Given the description of an element on the screen output the (x, y) to click on. 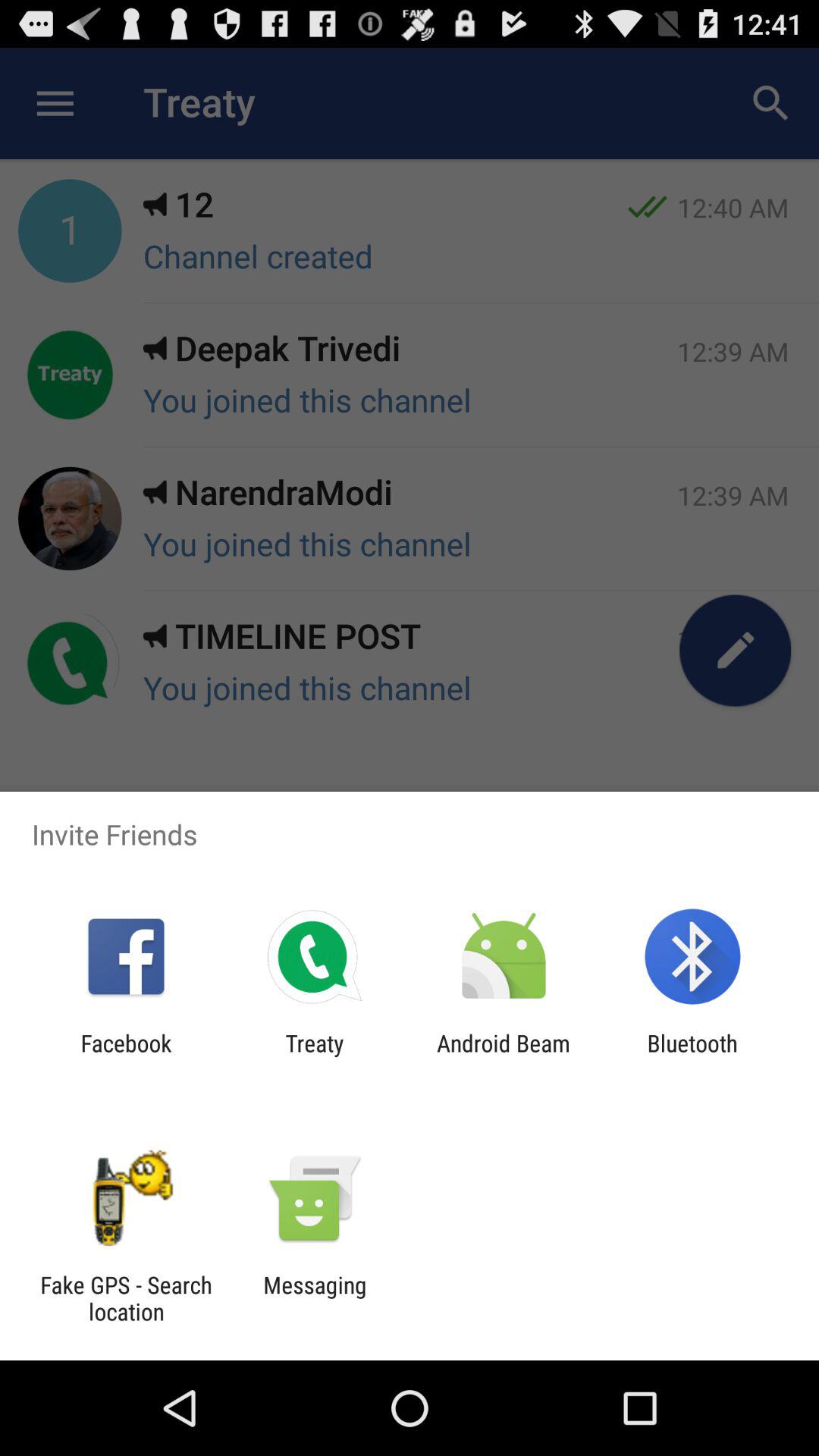
flip to bluetooth (692, 1056)
